Given the description of an element on the screen output the (x, y) to click on. 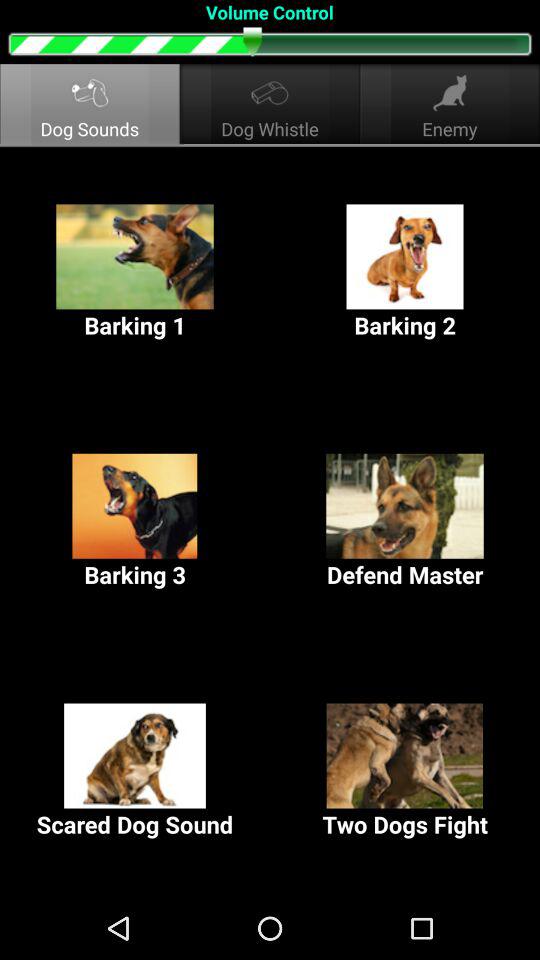
open the defend master (405, 521)
